Given the description of an element on the screen output the (x, y) to click on. 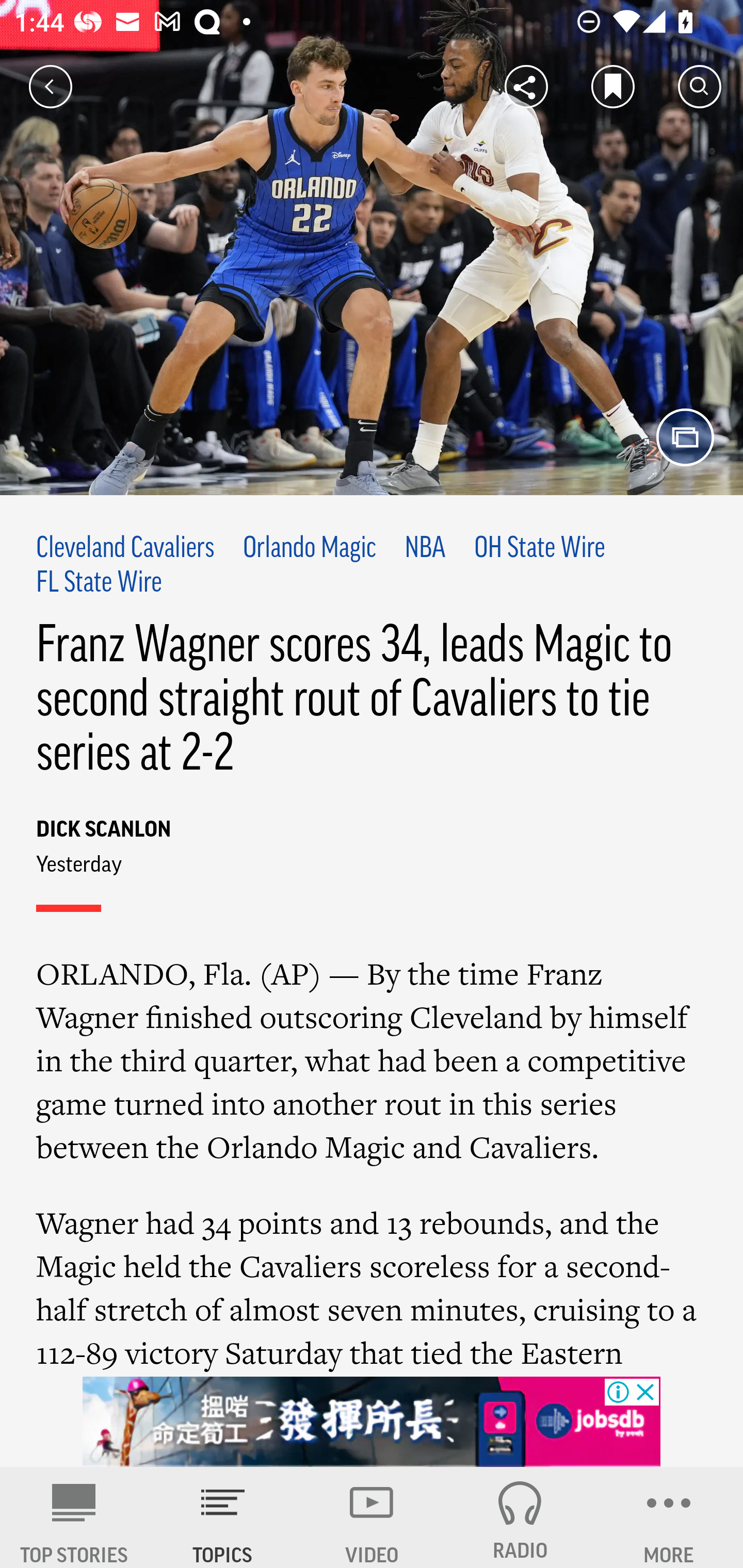
Cleveland Cavaliers (125, 549)
Orlando Magic (309, 549)
NBA (424, 549)
OH State Wire (540, 549)
FL State Wire (99, 584)
hk.jobsdb (371, 1421)
AP News TOP STORIES (74, 1517)
TOPICS (222, 1517)
VIDEO (371, 1517)
RADIO (519, 1517)
MORE (668, 1517)
